Given the description of an element on the screen output the (x, y) to click on. 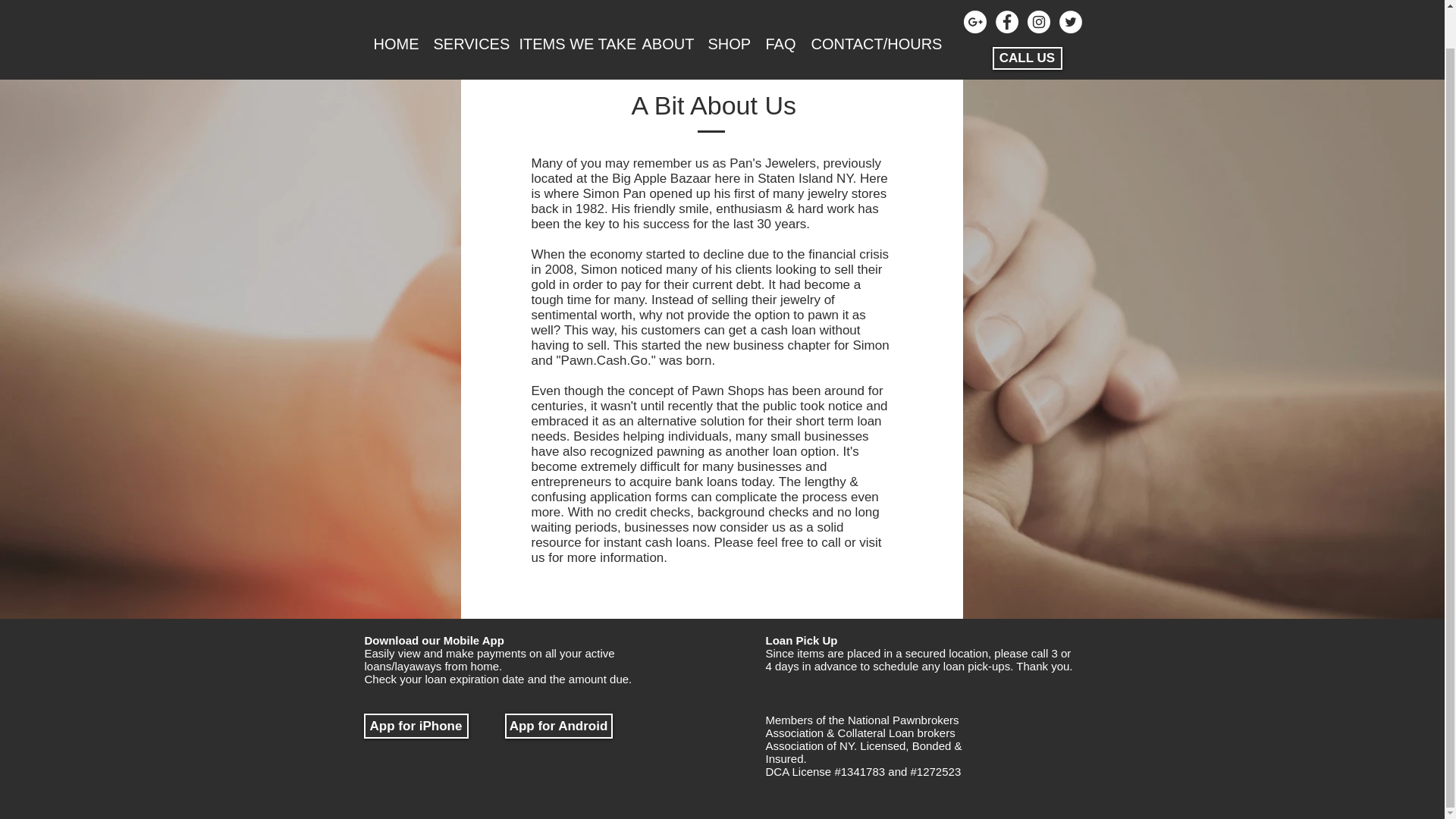
App for Android (558, 725)
CALL US (1026, 17)
FAQ (777, 5)
SHOP (726, 5)
HOME (393, 5)
ABOUT (664, 5)
App for iPhone (416, 725)
ITEMS WE TAKE (570, 5)
SERVICES (465, 5)
